Given the description of an element on the screen output the (x, y) to click on. 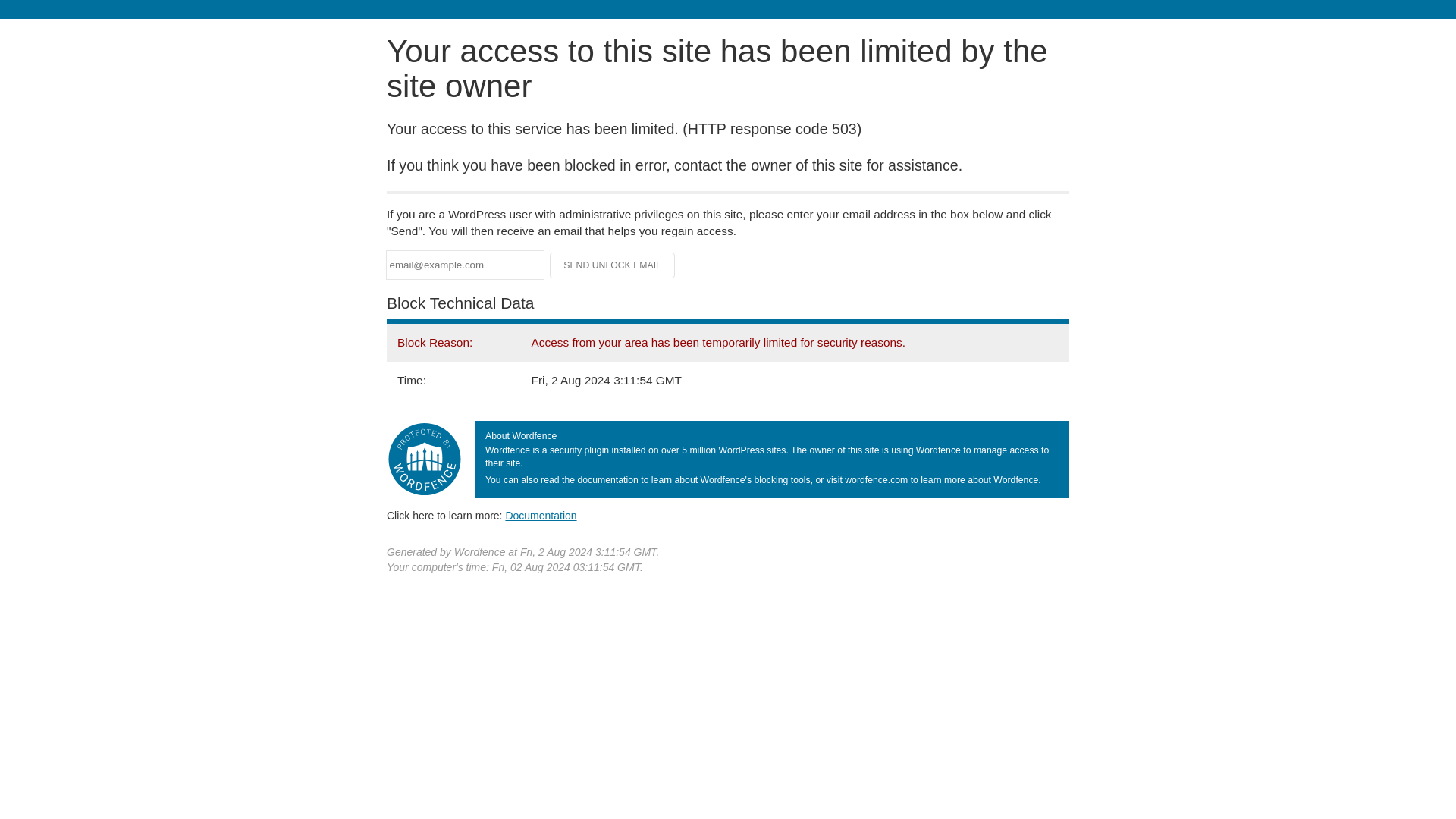
Send Unlock Email (612, 265)
Send Unlock Email (612, 265)
Documentation (540, 515)
